Given the description of an element on the screen output the (x, y) to click on. 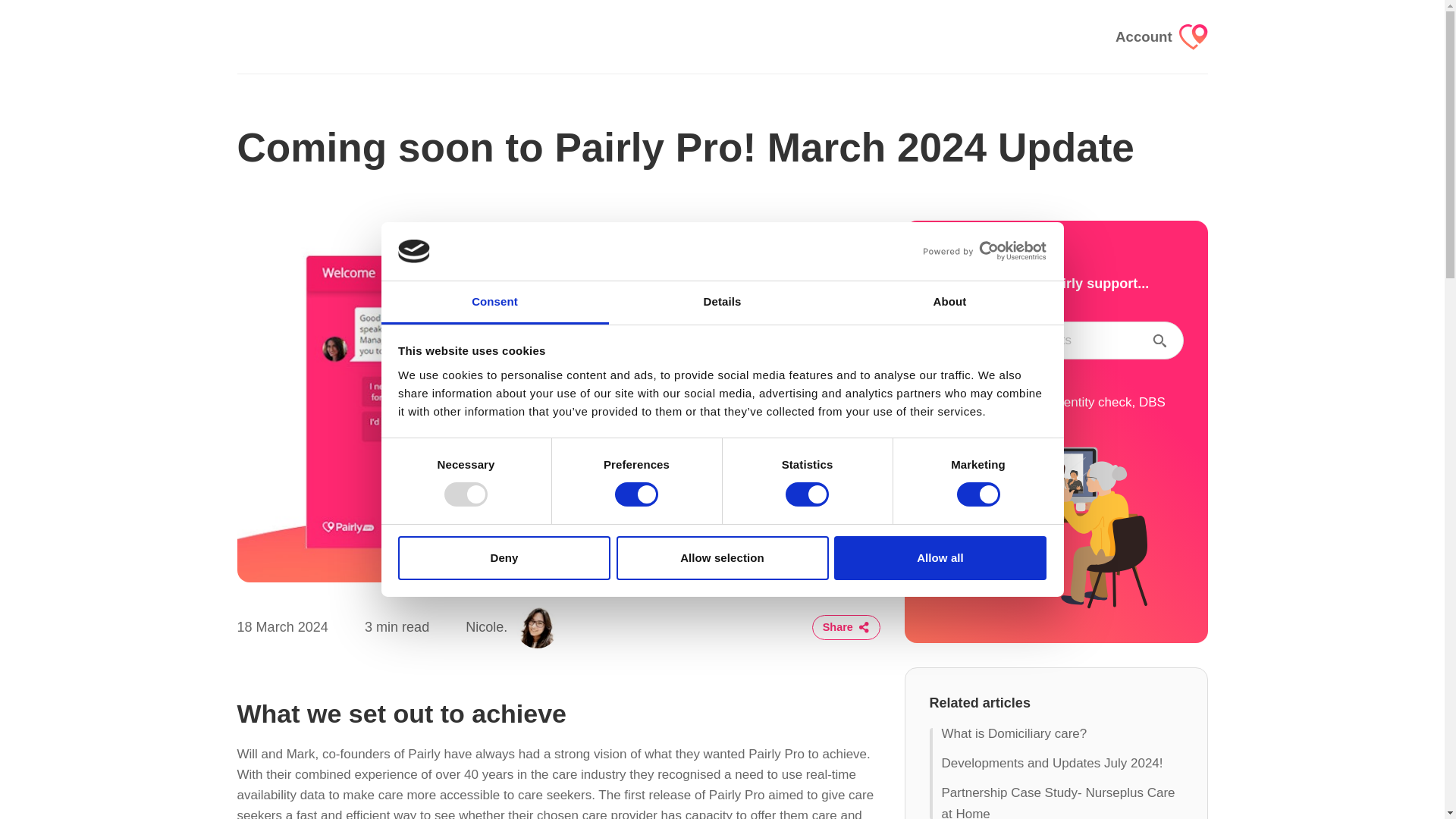
Allow selection (721, 557)
Search (1159, 340)
Deny (503, 557)
About (948, 302)
Consent (494, 302)
Details (721, 302)
